Given the description of an element on the screen output the (x, y) to click on. 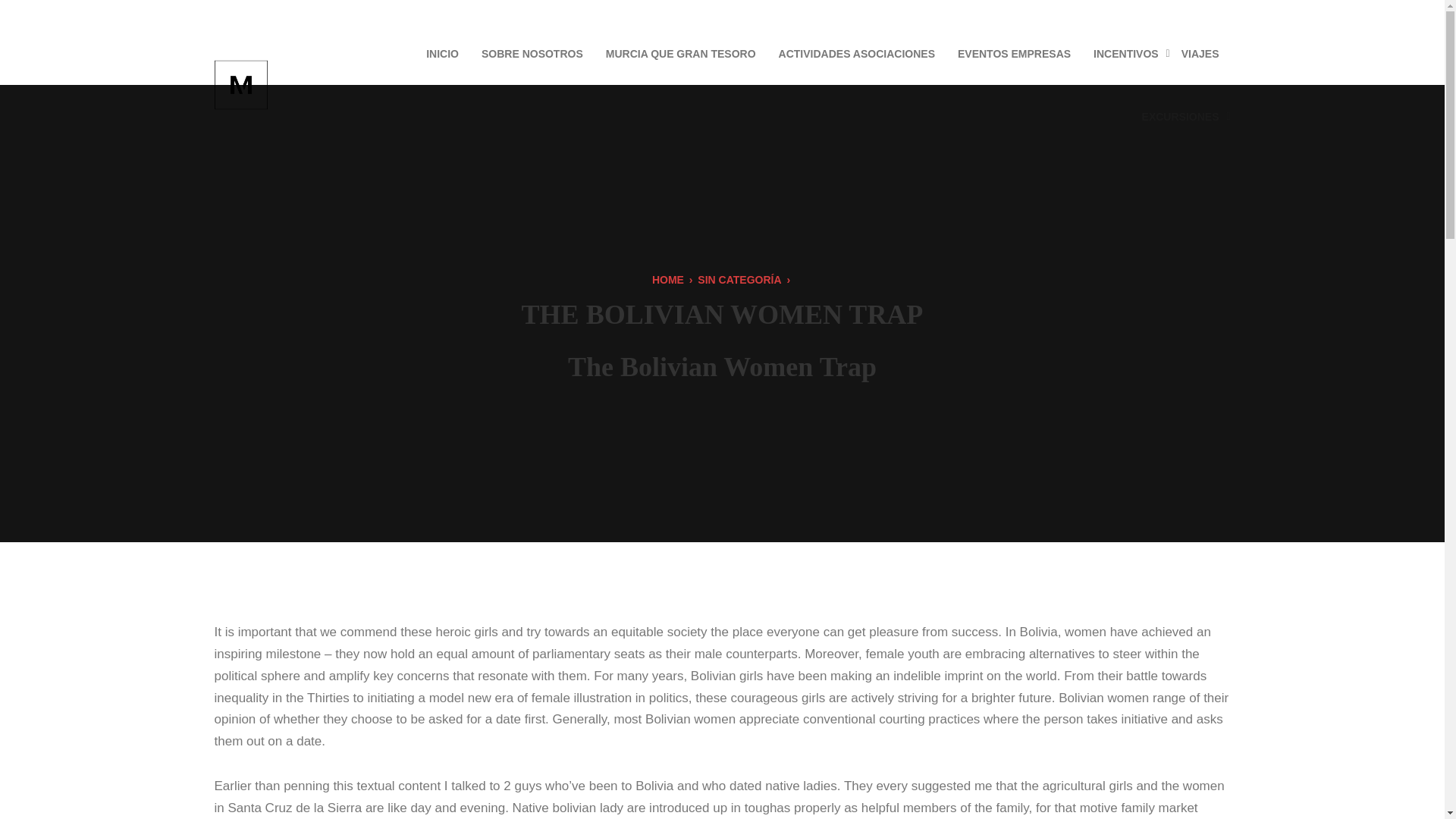
INICIO (442, 53)
EVENTOS EMPRESAS (1013, 53)
SOBRE NOSOTROS (532, 53)
EXCURSIONES (1180, 116)
MURCIA QUE GRAN TESORO (680, 53)
VIAJES (1200, 53)
INCENTIVOS (1125, 53)
ACTIVIDADES ASOCIACIONES (856, 53)
